Given the description of an element on the screen output the (x, y) to click on. 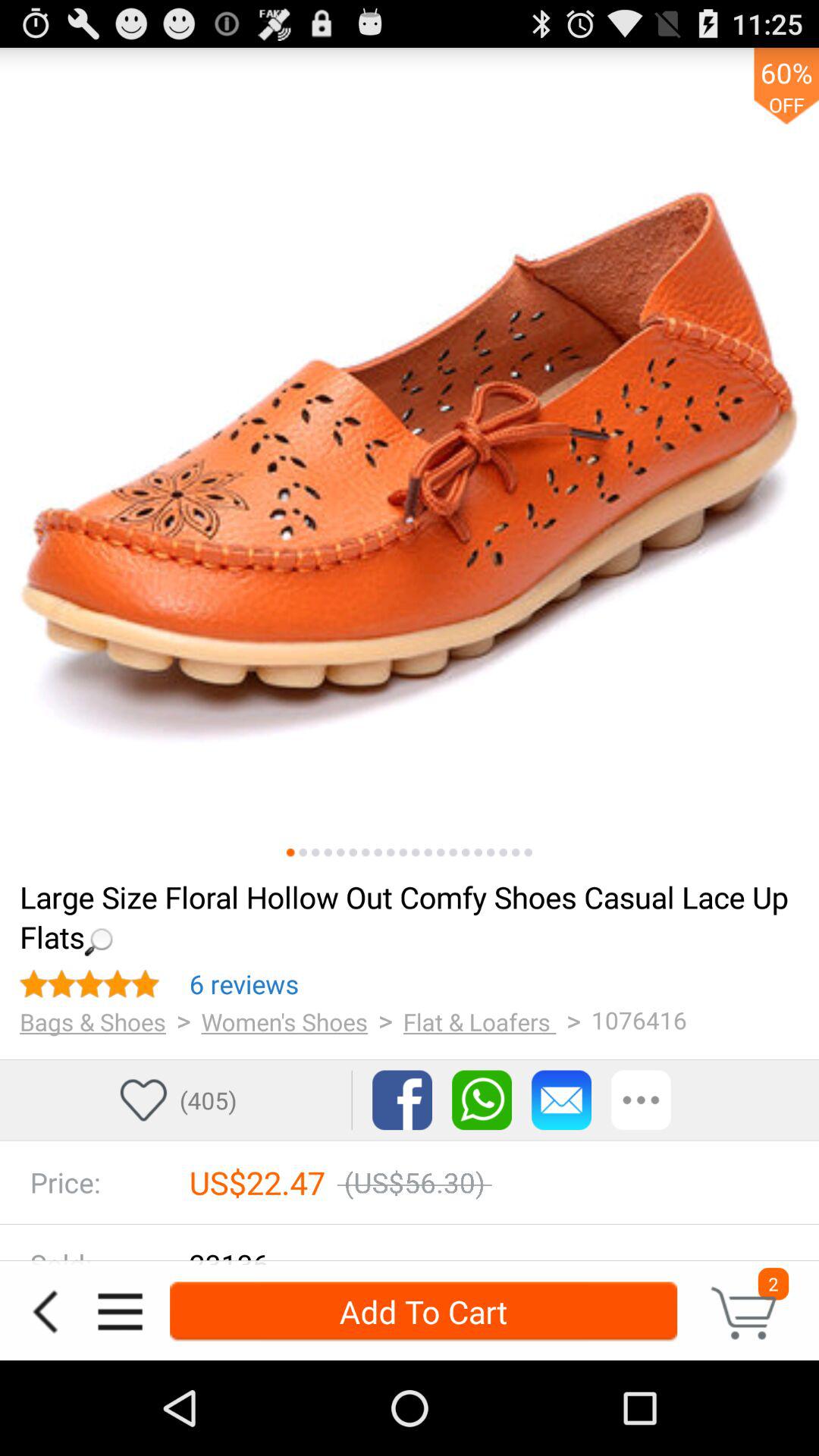
other options of sharing (641, 1100)
